Given the description of an element on the screen output the (x, y) to click on. 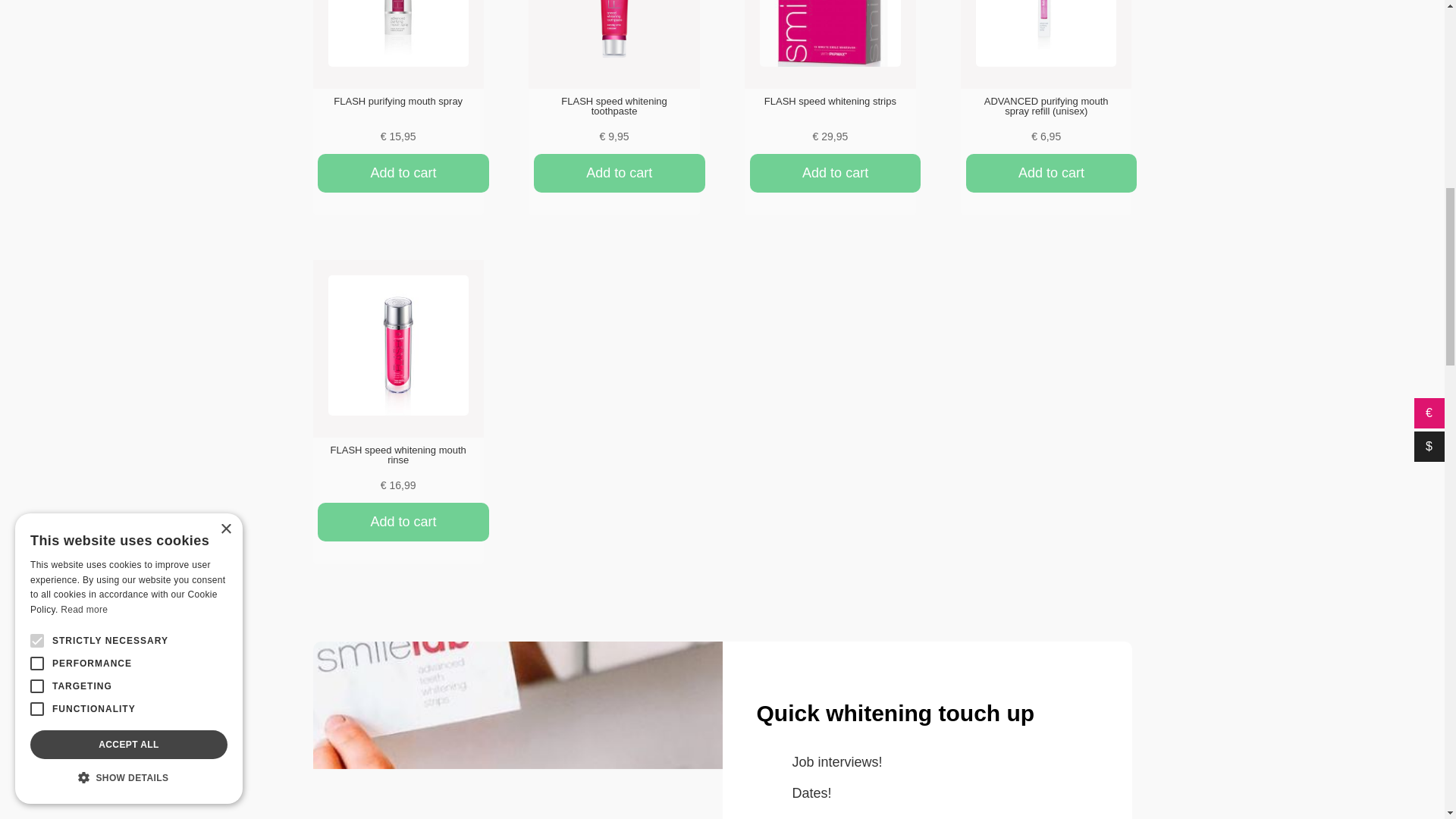
Add to cart (402, 172)
Add to cart (1051, 172)
Add to cart (619, 172)
Add to cart (834, 172)
